Given the description of an element on the screen output the (x, y) to click on. 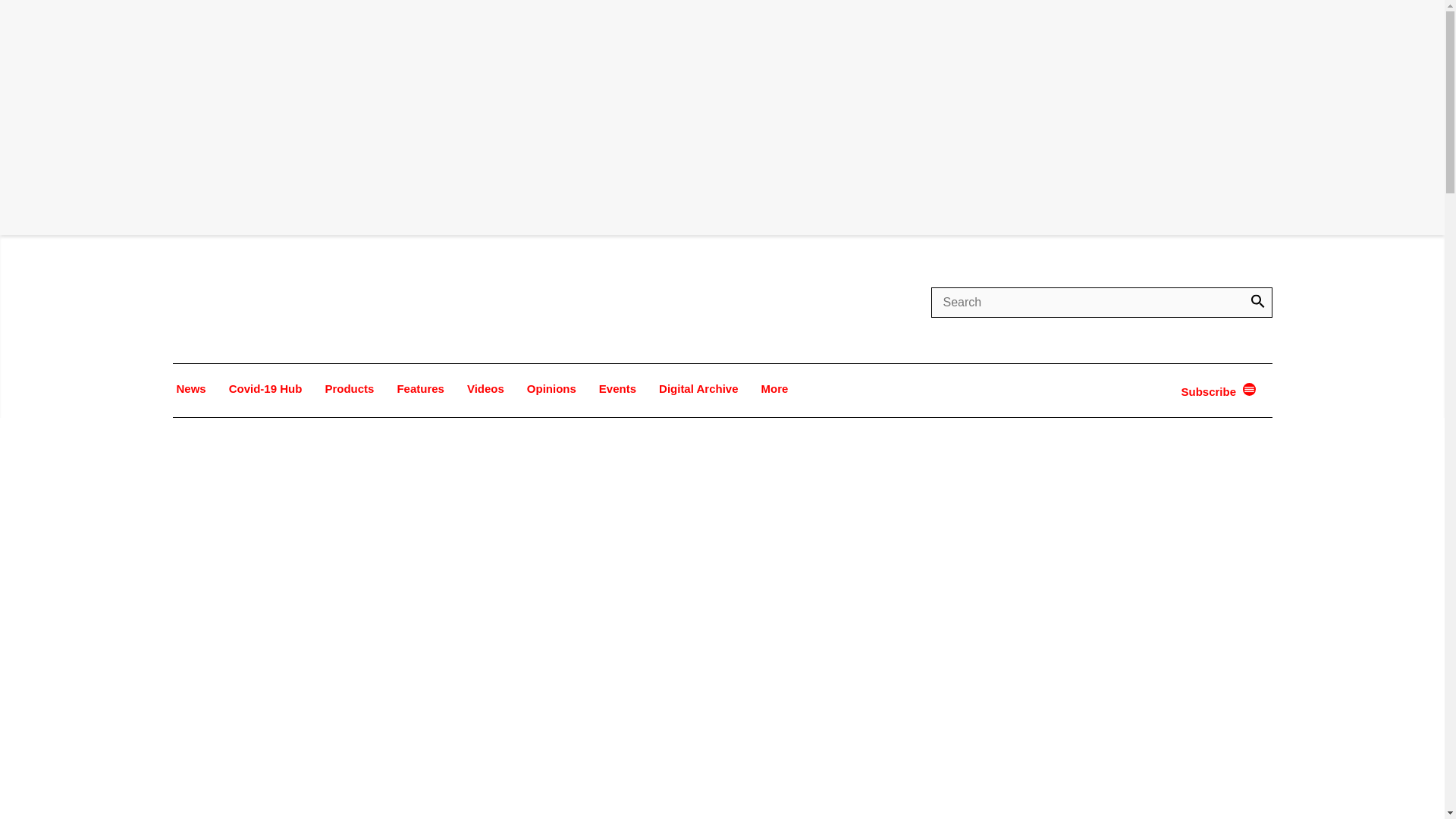
Covid-19 Hub (265, 388)
More (774, 388)
Digital Archive (698, 388)
Products (348, 388)
Subscribe (1210, 391)
Videos (485, 388)
Events (617, 388)
News (191, 388)
Opinions (550, 388)
Features (420, 388)
